Given the description of an element on the screen output the (x, y) to click on. 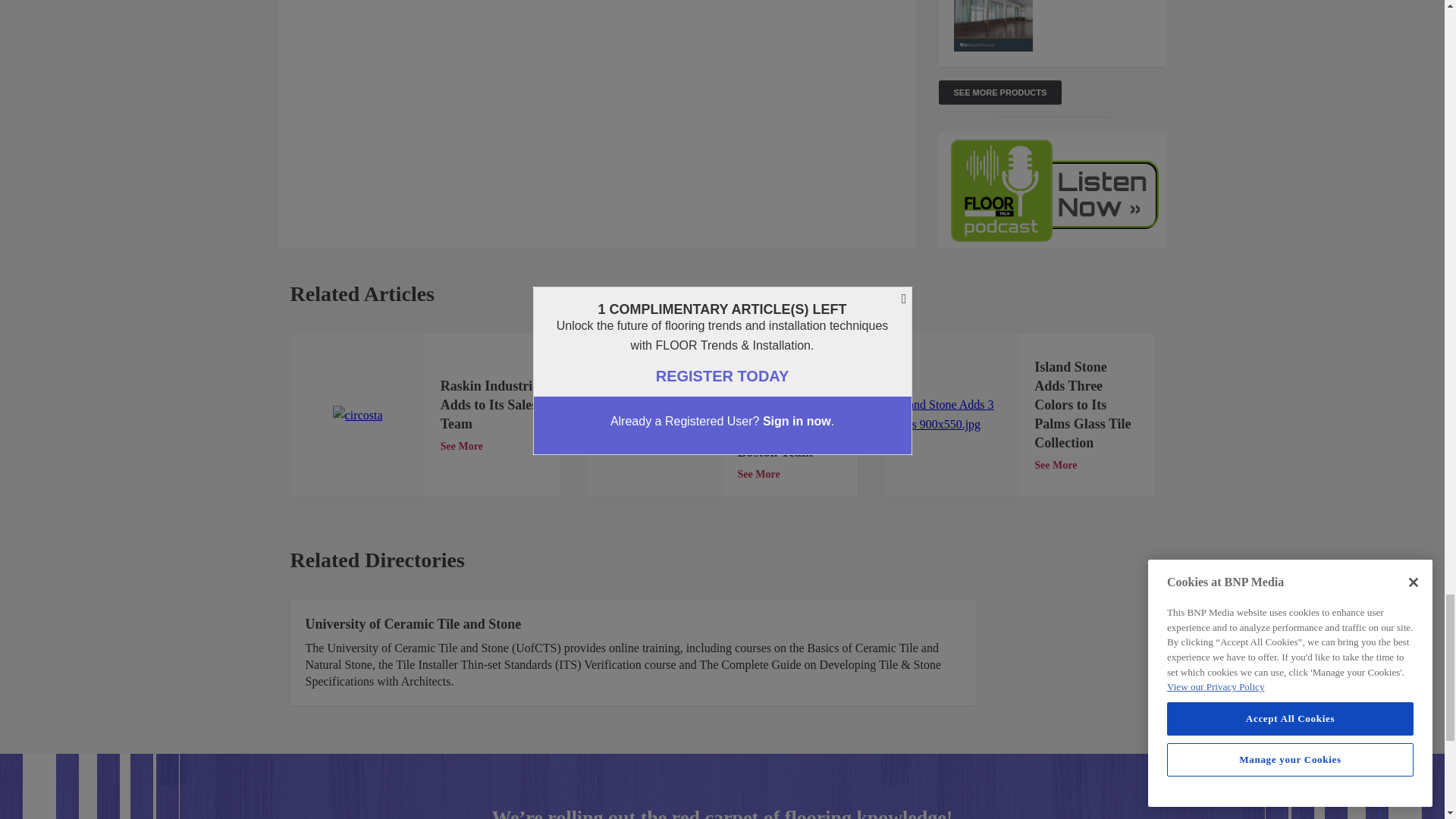
raskin (357, 415)
Island Stone Adds 3 Colors 900x550.jpg (951, 414)
Nemo-Tile-Puopolo.jpg (654, 415)
